Given the description of an element on the screen output the (x, y) to click on. 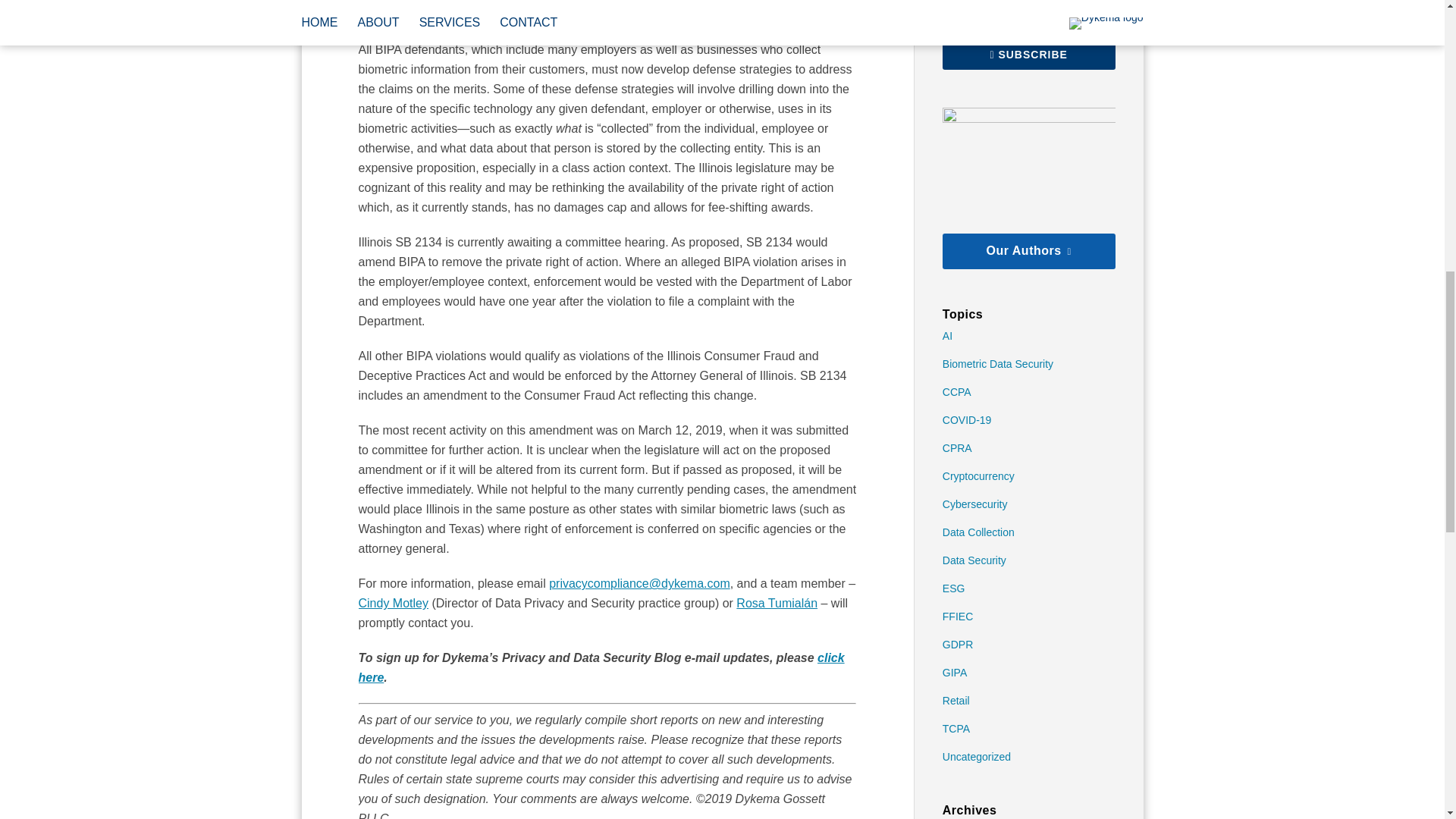
SUBSCRIBE (1028, 54)
Cindy Motley (393, 603)
click here (601, 667)
